Given the description of an element on the screen output the (x, y) to click on. 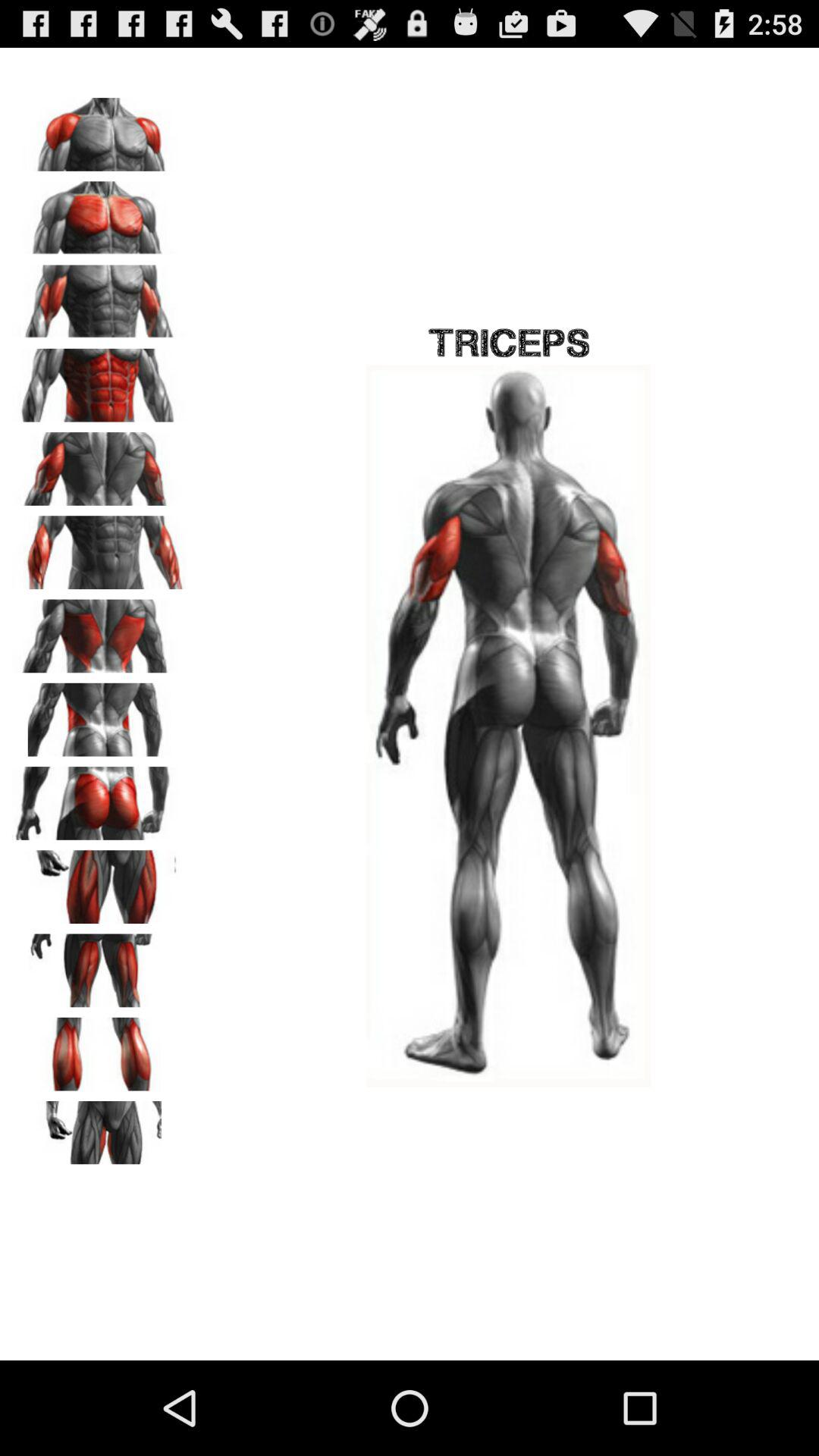
select calves (99, 1048)
